Given the description of an element on the screen output the (x, y) to click on. 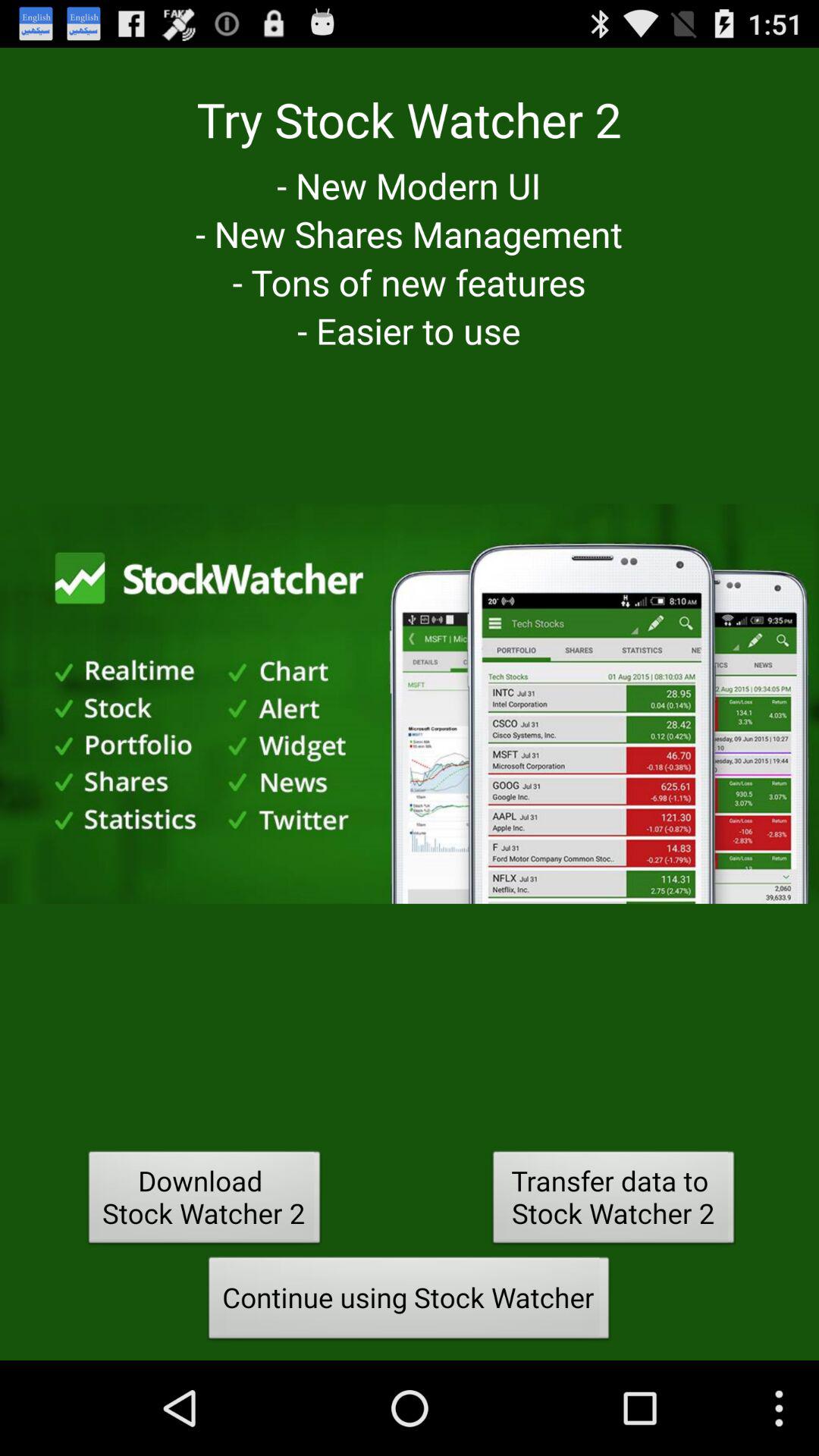
tap the continue using stock at the bottom (409, 1302)
